Given the description of an element on the screen output the (x, y) to click on. 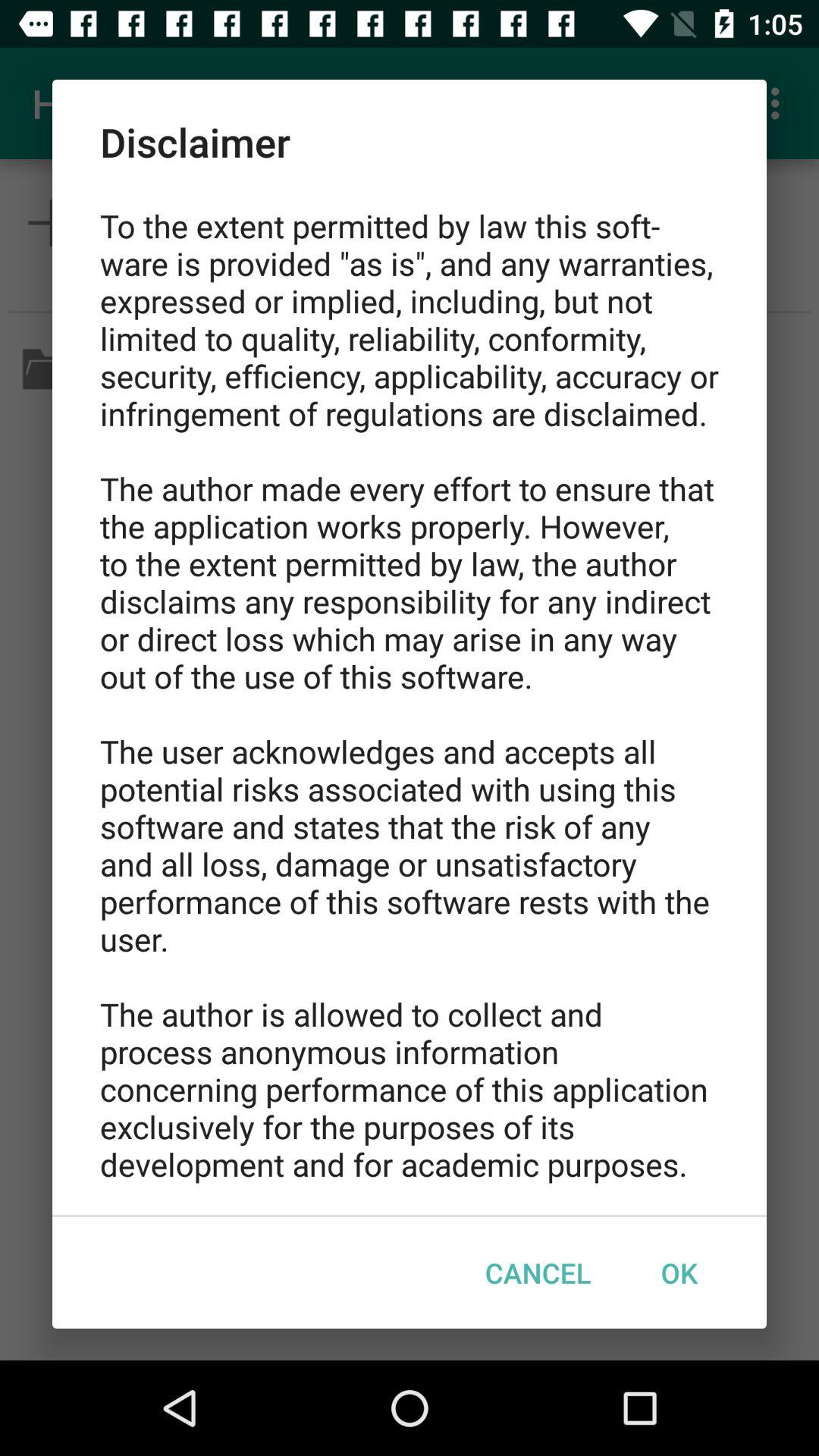
turn on icon to the left of the ok (538, 1272)
